Given the description of an element on the screen output the (x, y) to click on. 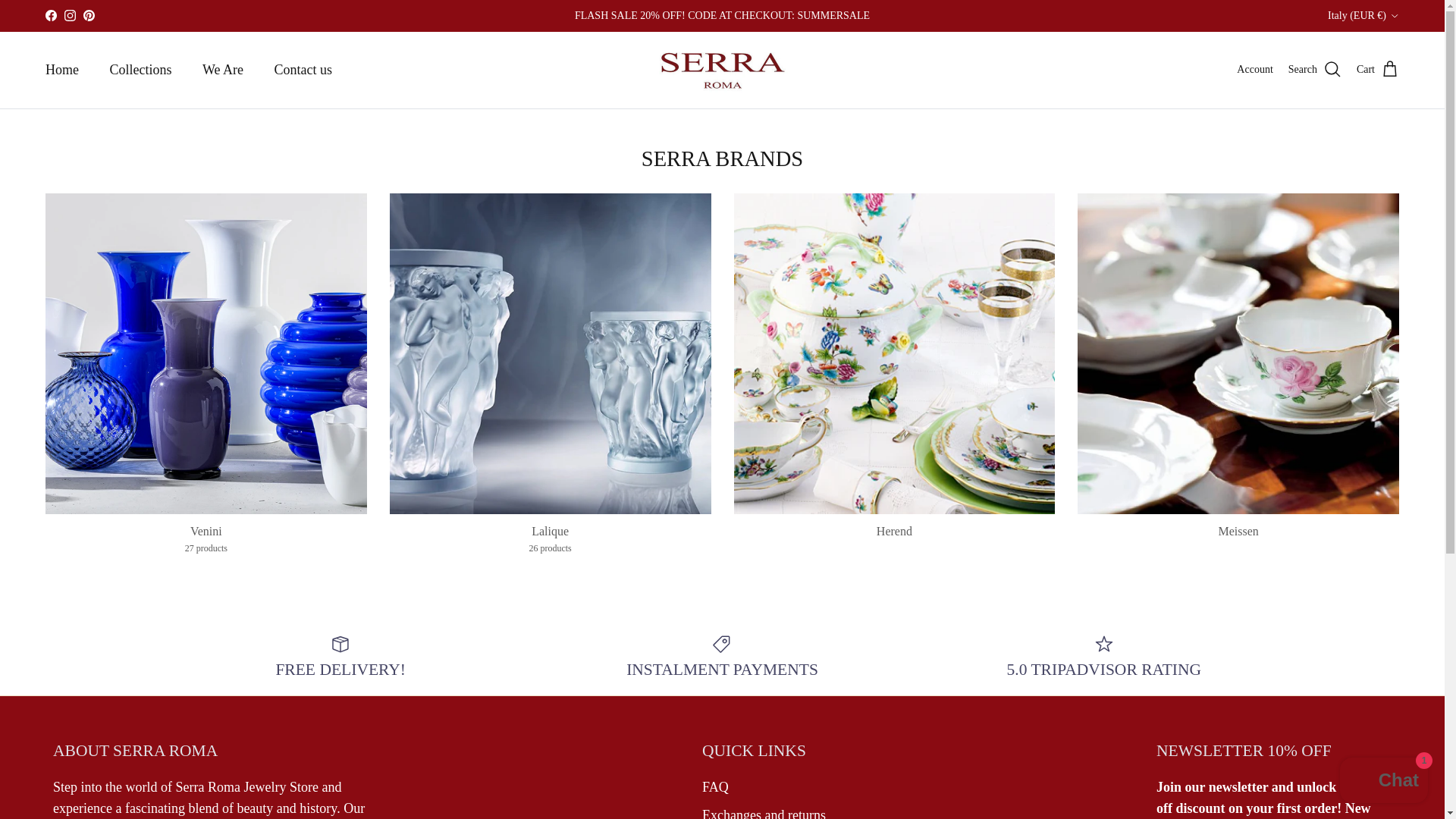
Collections (140, 70)
Serra Roma on Instagram (69, 15)
Search (1314, 69)
Serra Roma (721, 69)
Pinterest (88, 15)
Facebook (50, 15)
Cart (1377, 69)
Contact us (303, 70)
We Are (223, 70)
Home (62, 70)
Instagram (69, 15)
Serra Roma on Pinterest (88, 15)
Serra Roma on Facebook (50, 15)
Account (1254, 69)
Shopify online store chat (1383, 781)
